Given the description of an element on the screen output the (x, y) to click on. 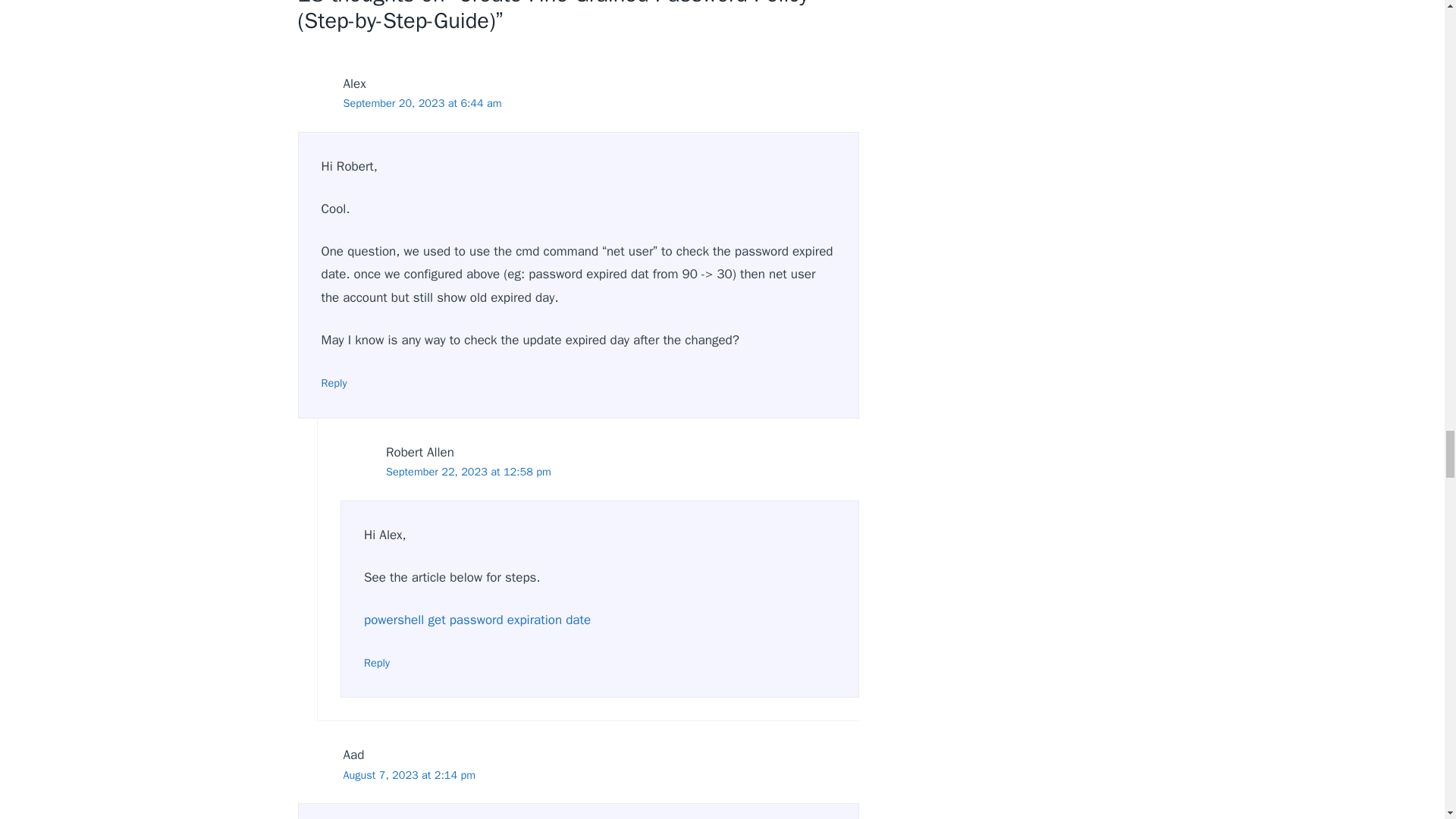
powershell get password expiration date (477, 619)
September 22, 2023 at 12:58 pm (468, 471)
August 7, 2023 at 2:14 pm (409, 775)
September 20, 2023 at 6:44 am (421, 102)
Reply (377, 662)
Reply (334, 382)
